Given the description of an element on the screen output the (x, y) to click on. 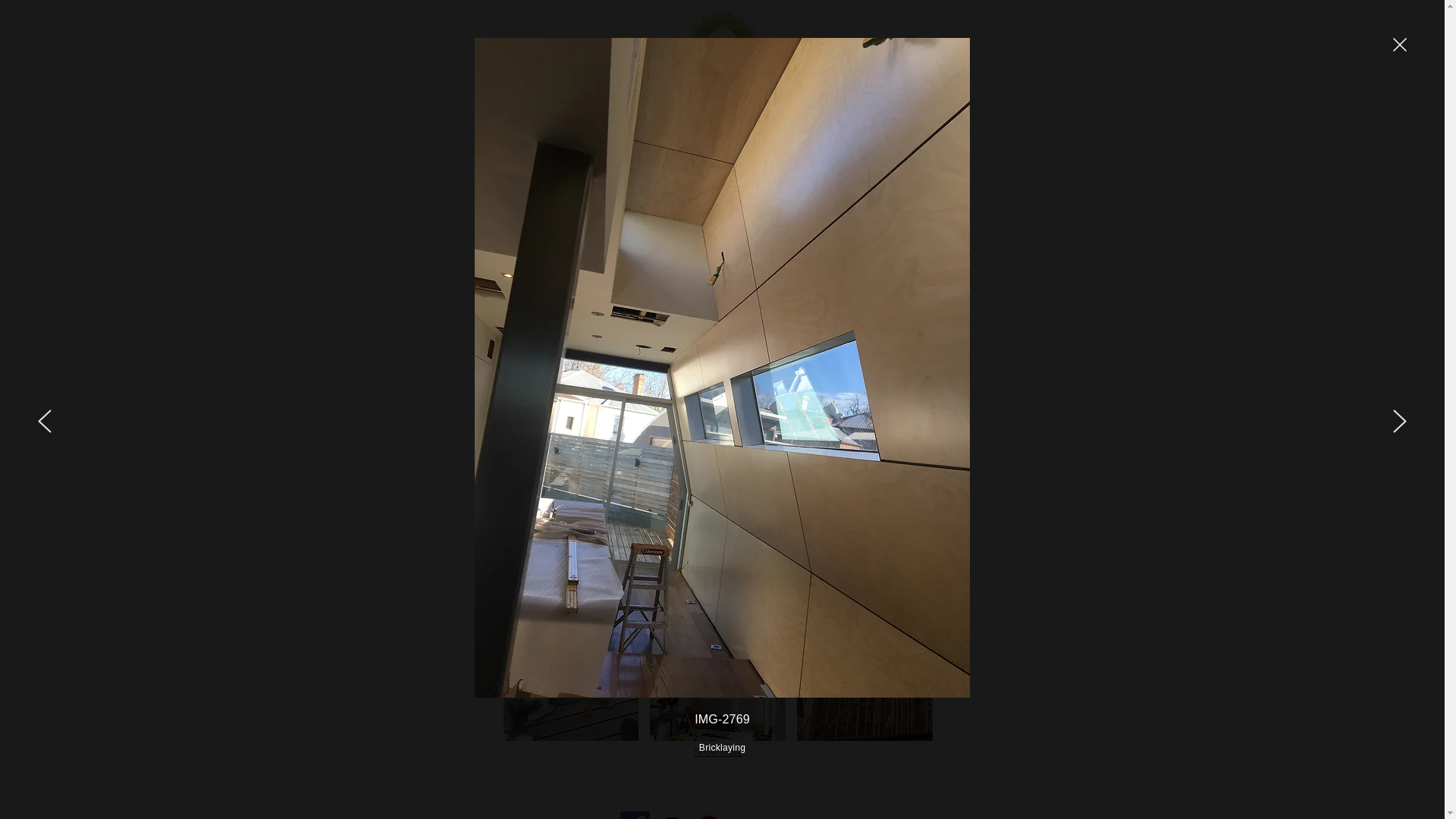
CW Design and Build Logo Vertical.jpg Element type: hover (721, 66)
Show More Element type: text (718, 751)
